Given the description of an element on the screen output the (x, y) to click on. 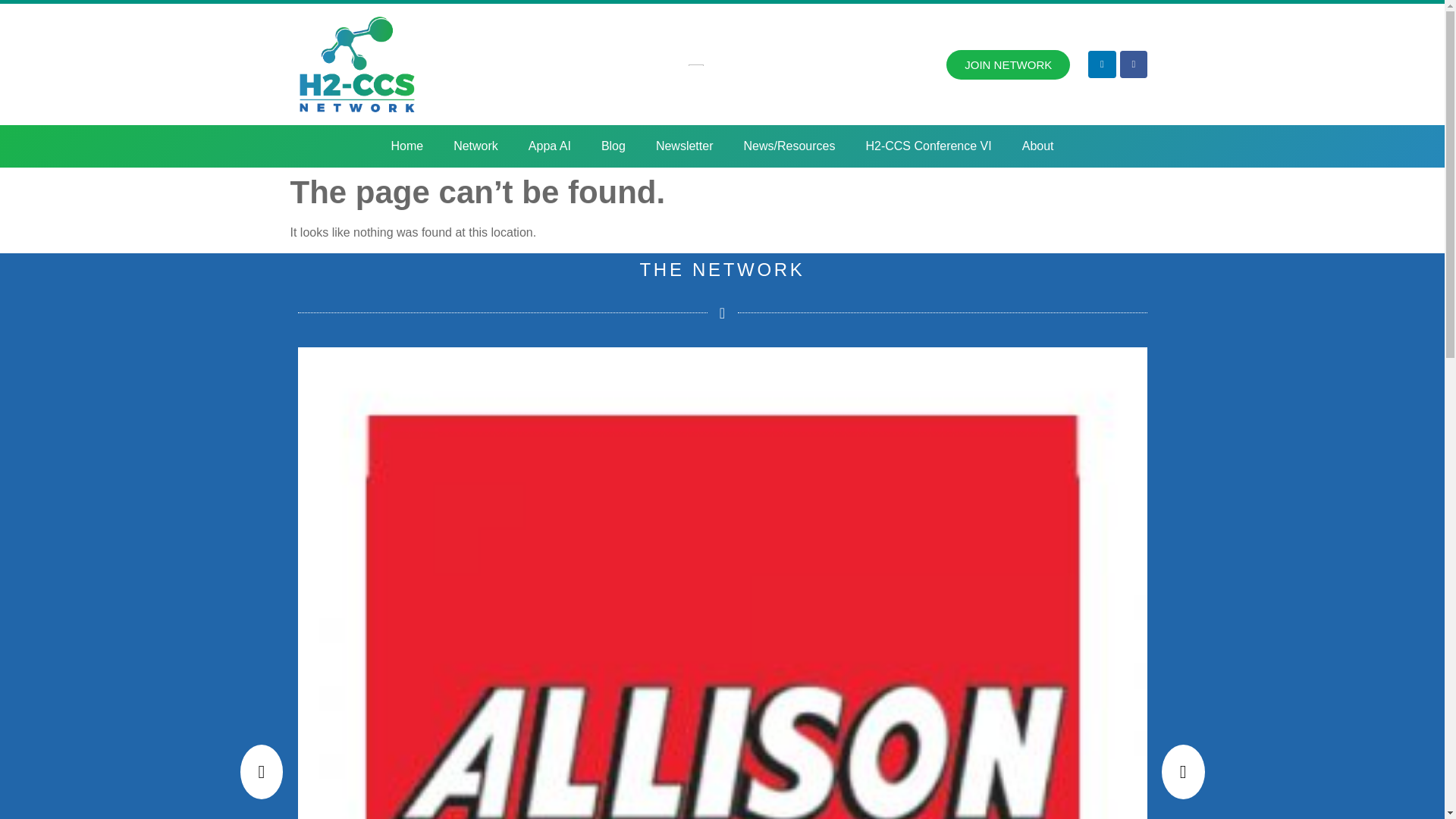
Network (475, 146)
Appa AI (549, 146)
Newsletter (684, 146)
About (1037, 146)
H2-CCS Conference VI (928, 146)
Home (406, 146)
JOIN NETWORK (1008, 64)
Blog (613, 146)
